Given the description of an element on the screen output the (x, y) to click on. 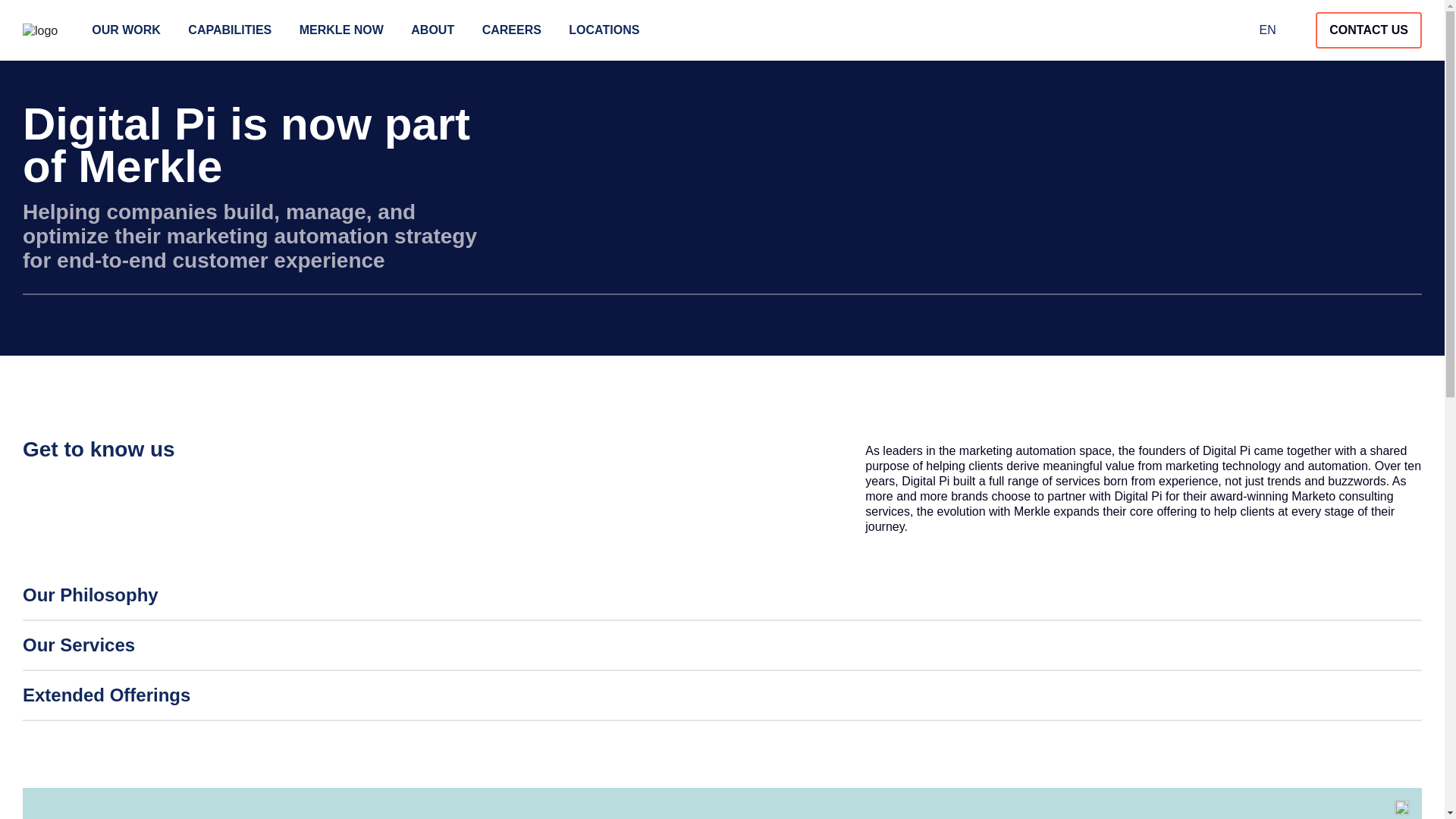
CAPABILITIES (228, 30)
CAREERS (511, 30)
LOCATIONS (604, 30)
MERKLE NOW (341, 30)
OUR WORK (125, 30)
merkle-full-logo-lt.svg (40, 30)
ABOUT (432, 30)
